Given the description of an element on the screen output the (x, y) to click on. 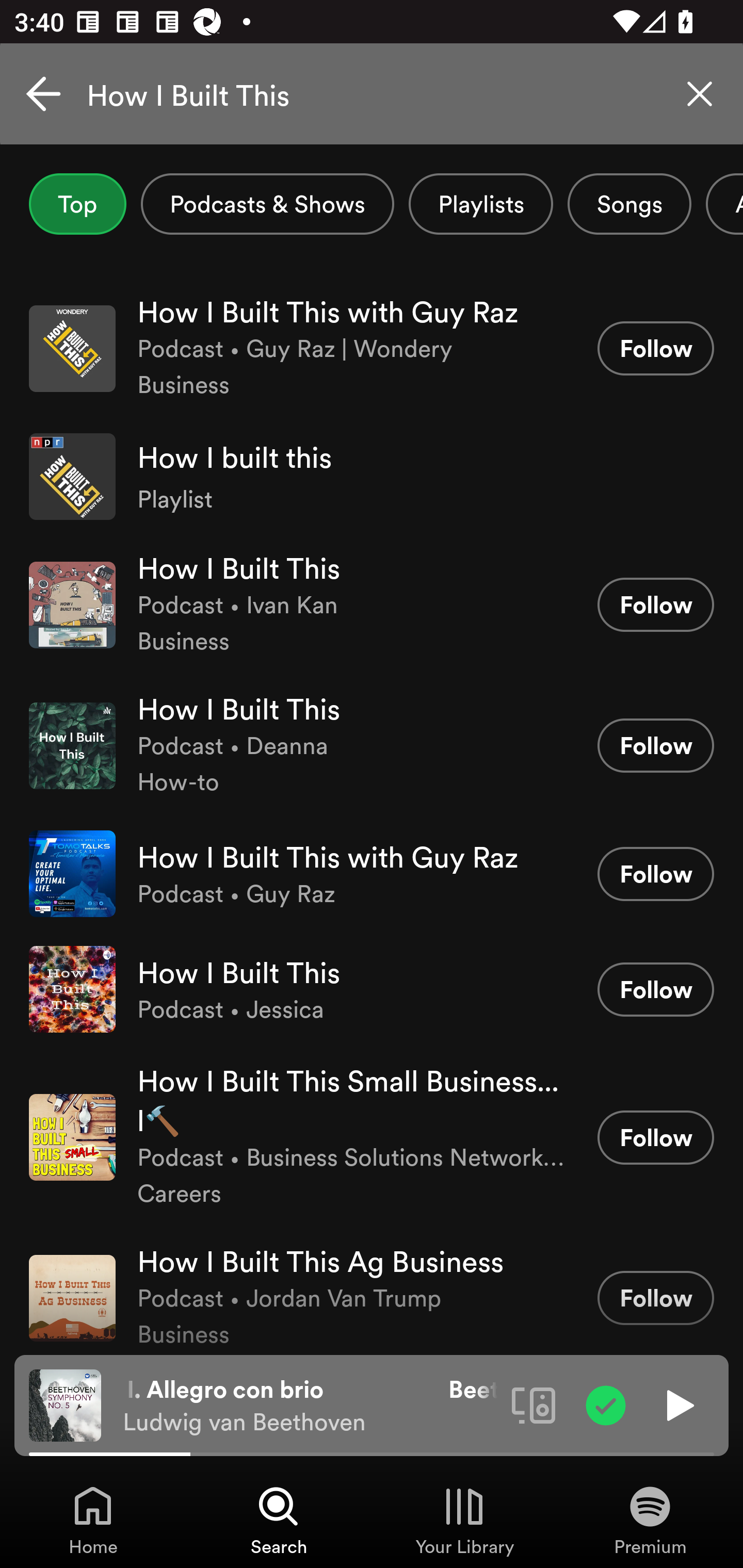
How I Built This (371, 93)
Cancel (43, 93)
Clear search query (699, 93)
Top (77, 203)
Podcasts & Shows (267, 203)
Playlists (480, 203)
Songs (629, 203)
Follow (655, 347)
How I built this Playlist (371, 476)
Follow (655, 604)
Follow (655, 745)
Follow (655, 873)
How I Built This  Podcast • Jessica Follow Follow (371, 989)
Follow (655, 989)
Follow (655, 1137)
Follow (655, 1297)
The cover art of the currently playing track (64, 1404)
Connect to a device. Opens the devices menu (533, 1404)
Item added (605, 1404)
Play (677, 1404)
Home, Tab 1 of 4 Home Home (92, 1519)
Search, Tab 2 of 4 Search Search (278, 1519)
Your Library, Tab 3 of 4 Your Library Your Library (464, 1519)
Premium, Tab 4 of 4 Premium Premium (650, 1519)
